Given the description of an element on the screen output the (x, y) to click on. 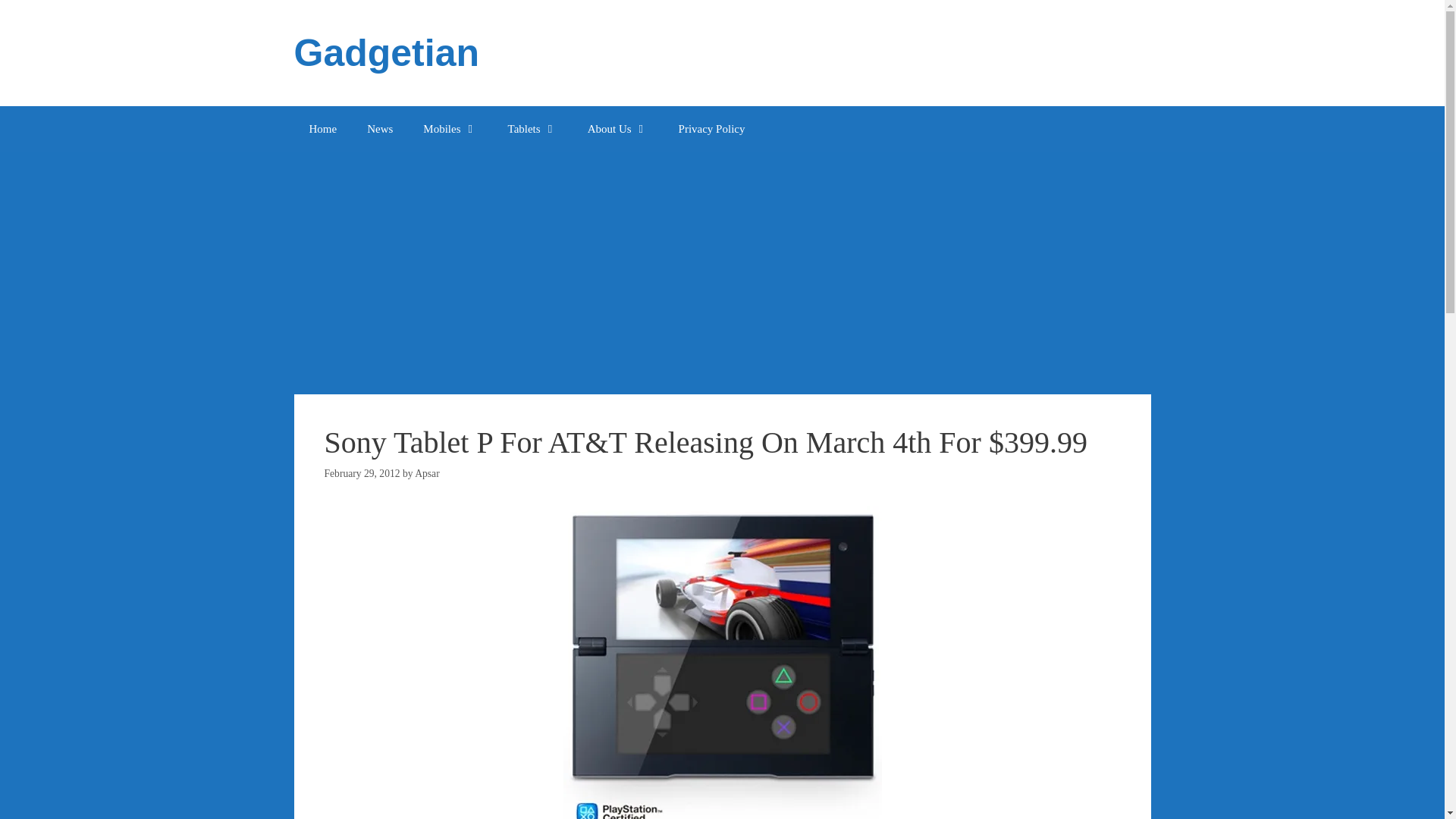
Gadgetian (386, 52)
Tablets (532, 128)
Home (323, 128)
Privacy Policy (711, 128)
Apsar (426, 473)
Mobiles (449, 128)
View all posts by Apsar (426, 473)
About Us (617, 128)
Sony Tablet P (721, 662)
News (379, 128)
